Given the description of an element on the screen output the (x, y) to click on. 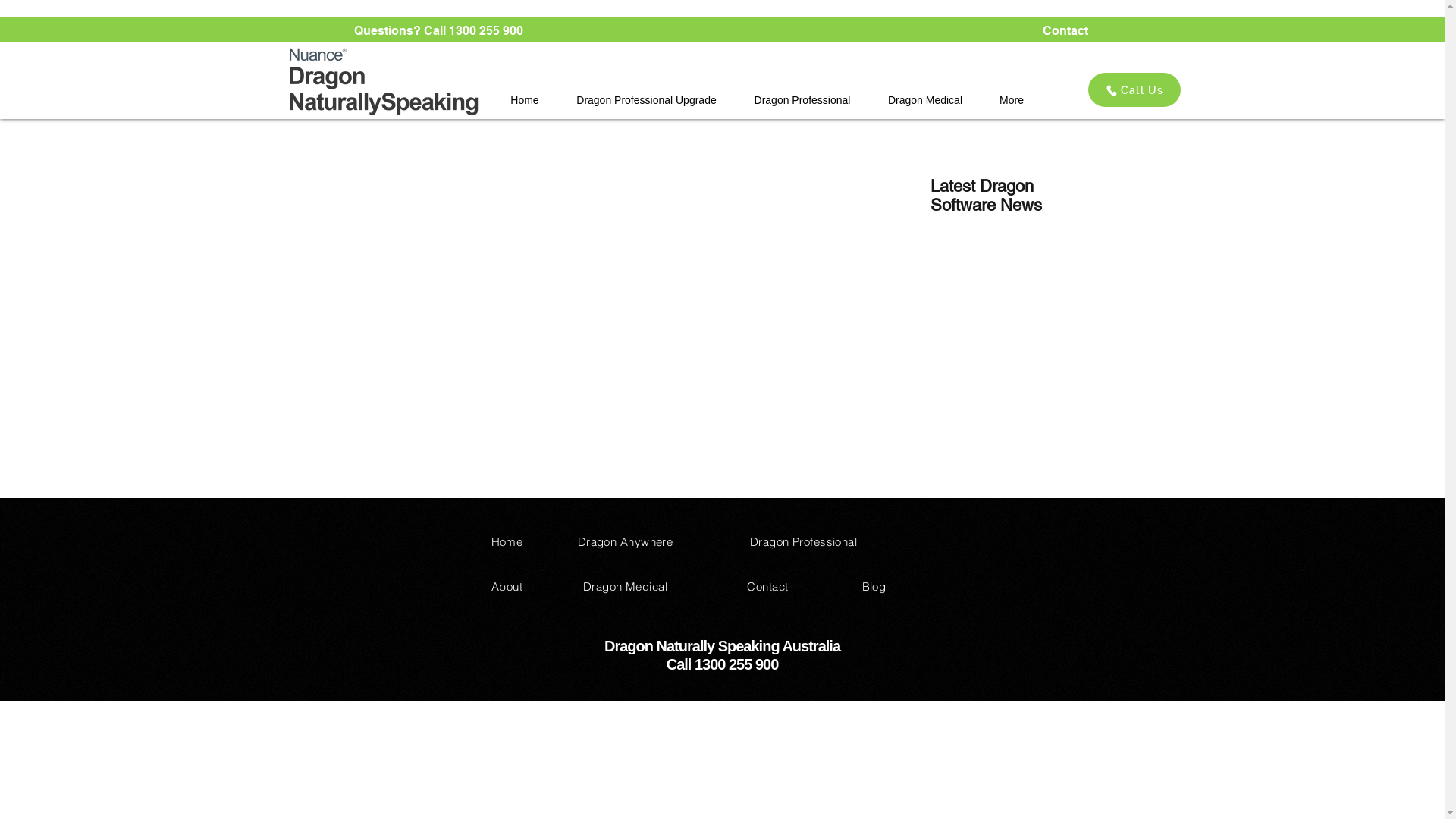
Dragon Professional Element type: text (802, 100)
Dragon Anywhere Element type: text (625, 541)
Dragon Medical Element type: text (625, 586)
Dragon Professional Element type: text (803, 541)
Dragon Professional Upgrade Element type: text (646, 100)
Dragon Medical Element type: text (924, 100)
Contact Element type: text (1064, 30)
Home Element type: text (524, 100)
Home Element type: text (507, 541)
Blog Element type: text (874, 586)
Call Us Element type: text (1133, 89)
Contact Element type: text (766, 586)
About Element type: text (506, 586)
